Given the description of an element on the screen output the (x, y) to click on. 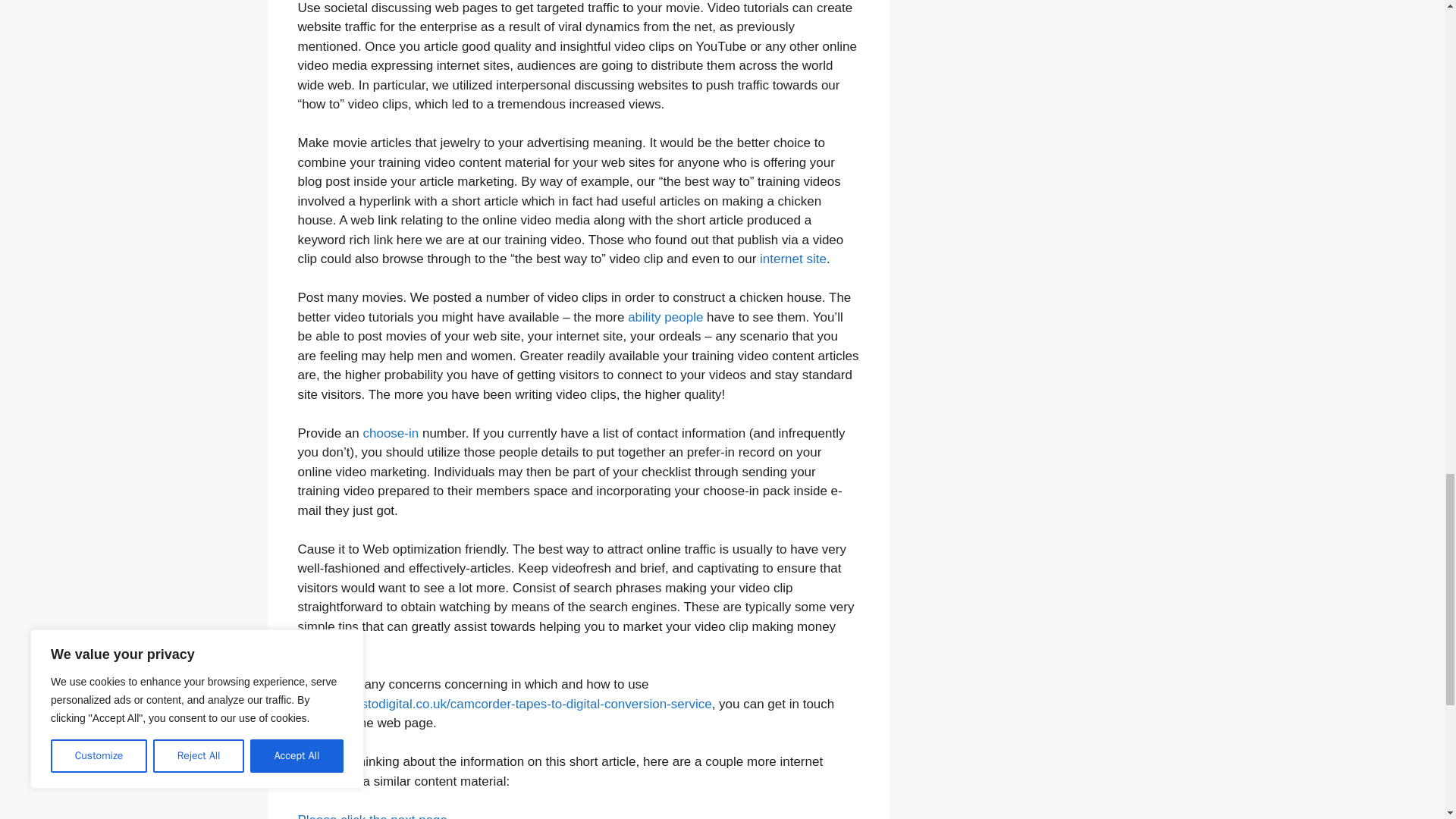
choose-in (390, 432)
ability people (665, 317)
Please click the next page (371, 816)
internet site (793, 258)
